Given the description of an element on the screen output the (x, y) to click on. 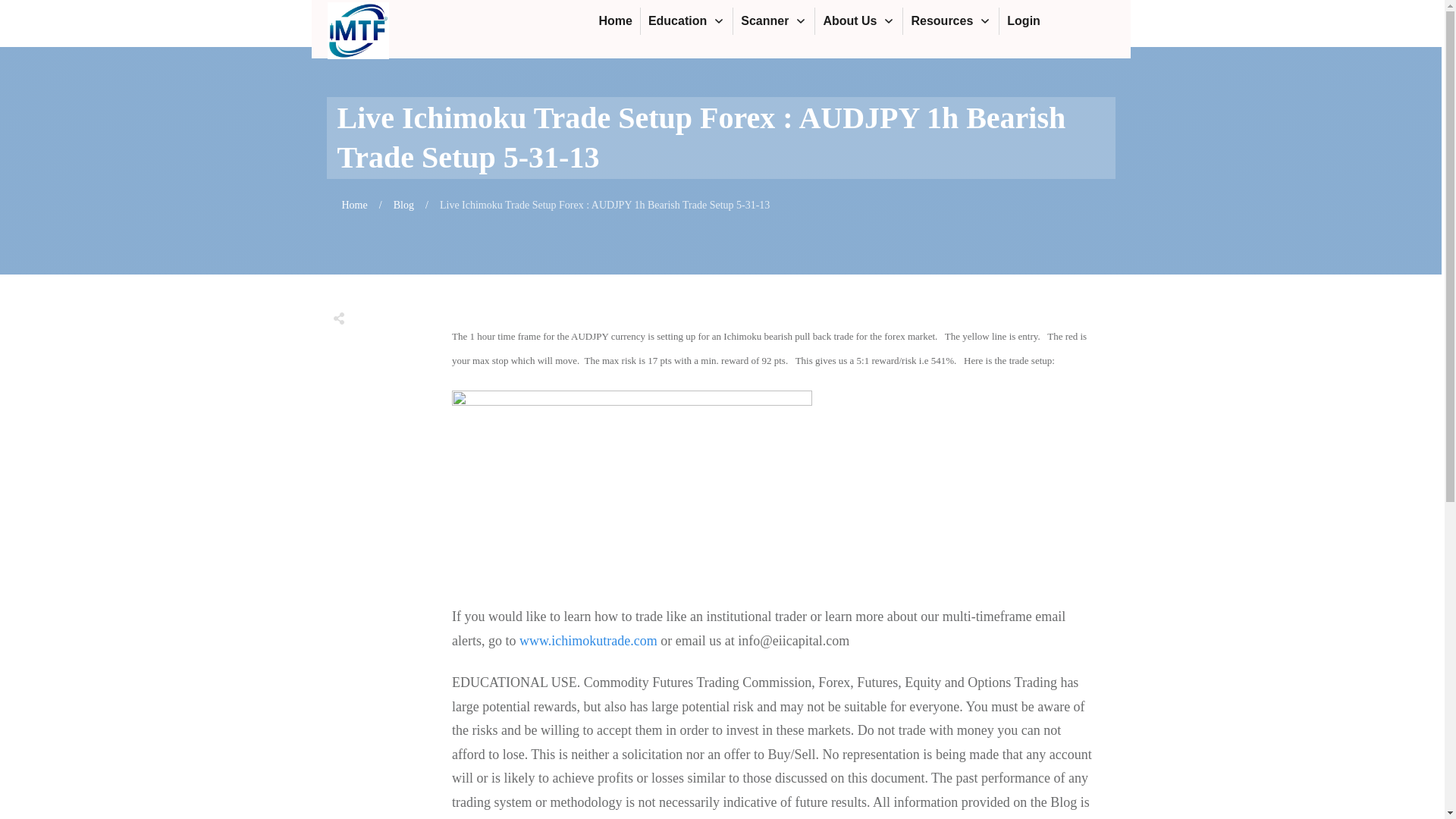
Blog (403, 204)
Home (614, 21)
About Us (858, 21)
Home (353, 204)
Education (686, 21)
Scanner (773, 21)
Login (1024, 21)
Resources (951, 21)
www.ichimokutrade.com (588, 639)
